Given the description of an element on the screen output the (x, y) to click on. 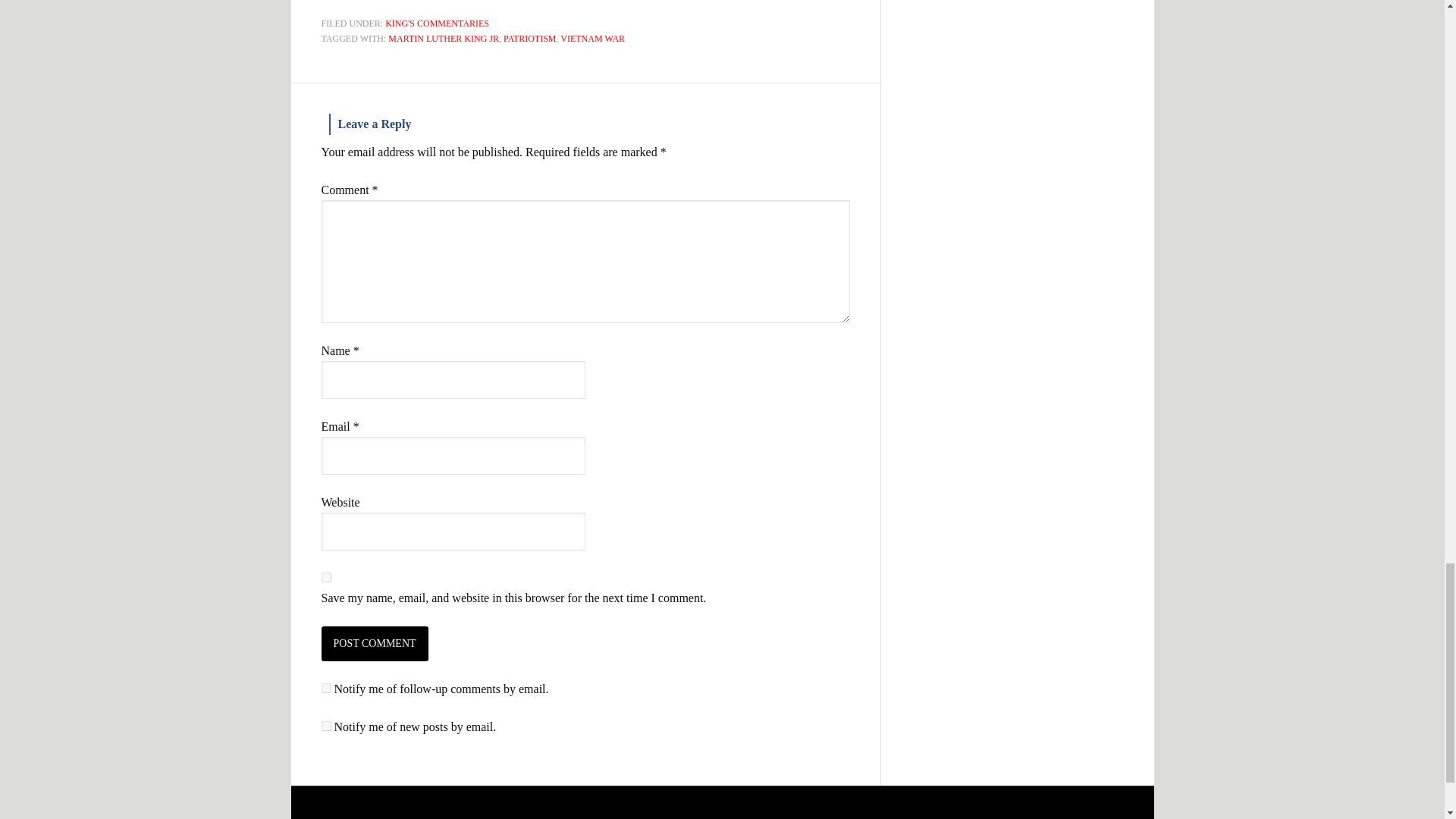
Post Comment (374, 643)
subscribe (326, 726)
yes (326, 577)
subscribe (326, 687)
MARTIN LUTHER KING JR (443, 38)
KING'S COMMENTARIES (437, 23)
PATRIOTISM (529, 38)
Post Comment (374, 643)
VIETNAM WAR (592, 38)
